Given the description of an element on the screen output the (x, y) to click on. 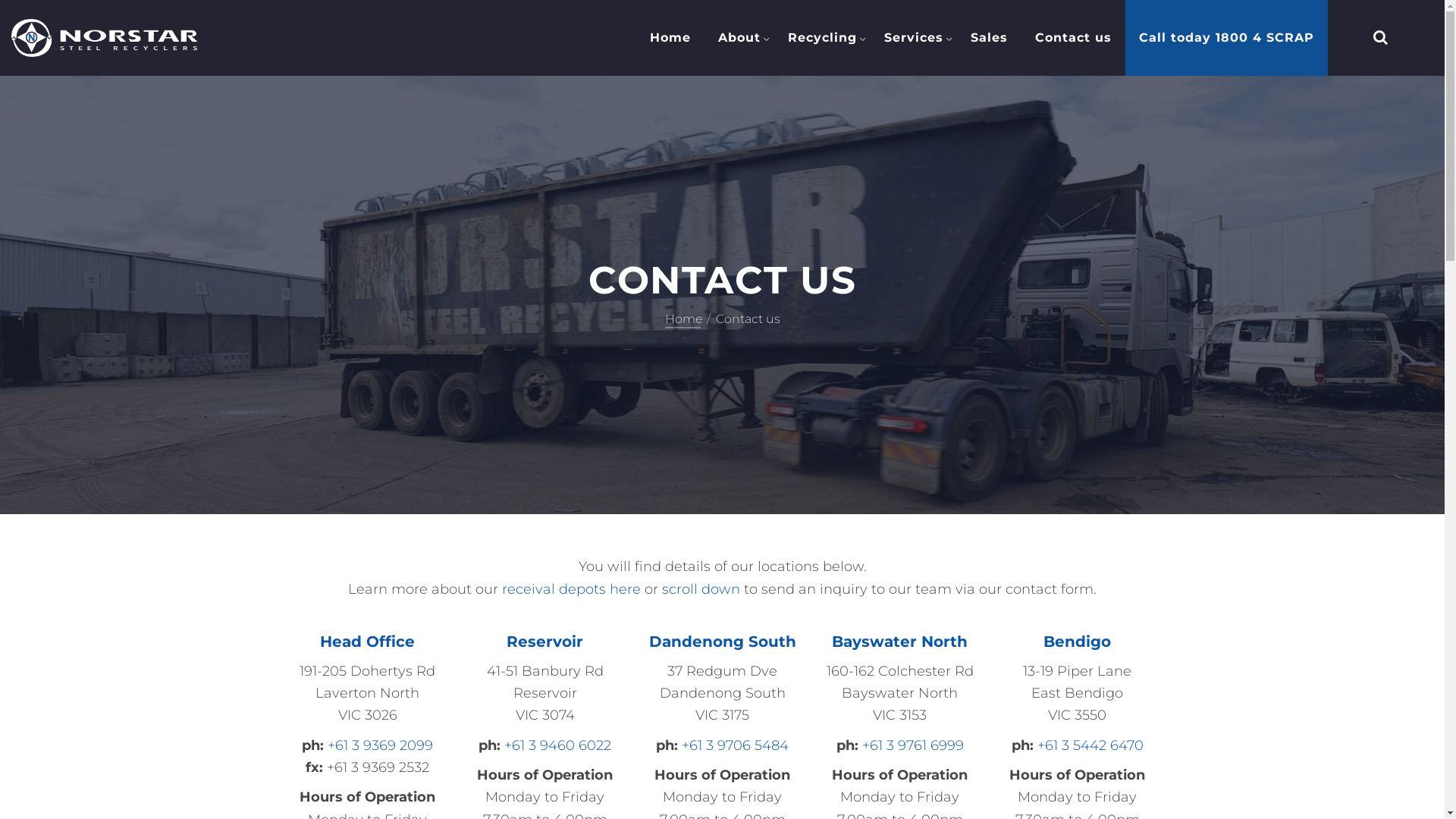
Bendigo Element type: text (1076, 641)
+61 3 9761 6999 Element type: text (912, 745)
Contact us Element type: text (1073, 37)
Sales Element type: text (989, 37)
Services Element type: text (913, 37)
About Element type: text (739, 37)
Home Element type: text (686, 318)
scroll down Element type: text (701, 588)
+61 3 9460 6022 Element type: text (557, 745)
+61 3 5442 6470 Element type: text (1090, 745)
receival depots here Element type: text (571, 588)
+61 3 9706 5484 Element type: text (734, 745)
Call today 1800 4 SCRAP Element type: text (1226, 37)
Home Element type: text (670, 37)
+61 3 9369 2099 Element type: text (380, 745)
Recycling Element type: text (822, 37)
